Given the description of an element on the screen output the (x, y) to click on. 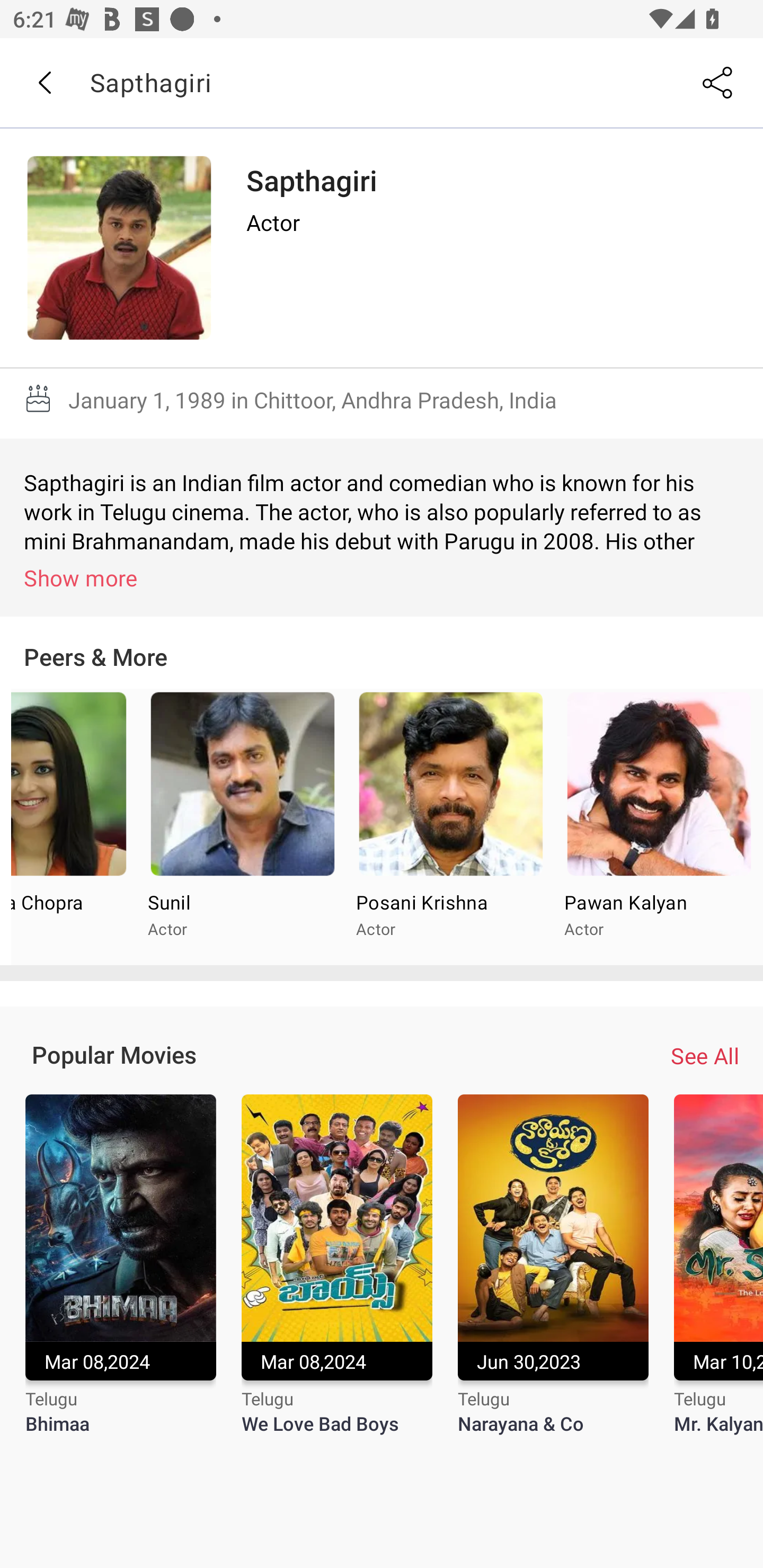
Back (44, 82)
Show more (384, 577)
Mannara Chopra Actor (74, 826)
Sunil Actor (242, 826)
Posani Krishna Murali Actor (450, 826)
Pawan Kalyan Actor (658, 826)
See All (704, 1055)
Mar 08,2024 Telugu Bhimaa (120, 1276)
Mar 08,2024 Telugu We Love Bad Boys (336, 1276)
Jun 30,2023 Telugu Narayana & Co (552, 1276)
